Given the description of an element on the screen output the (x, y) to click on. 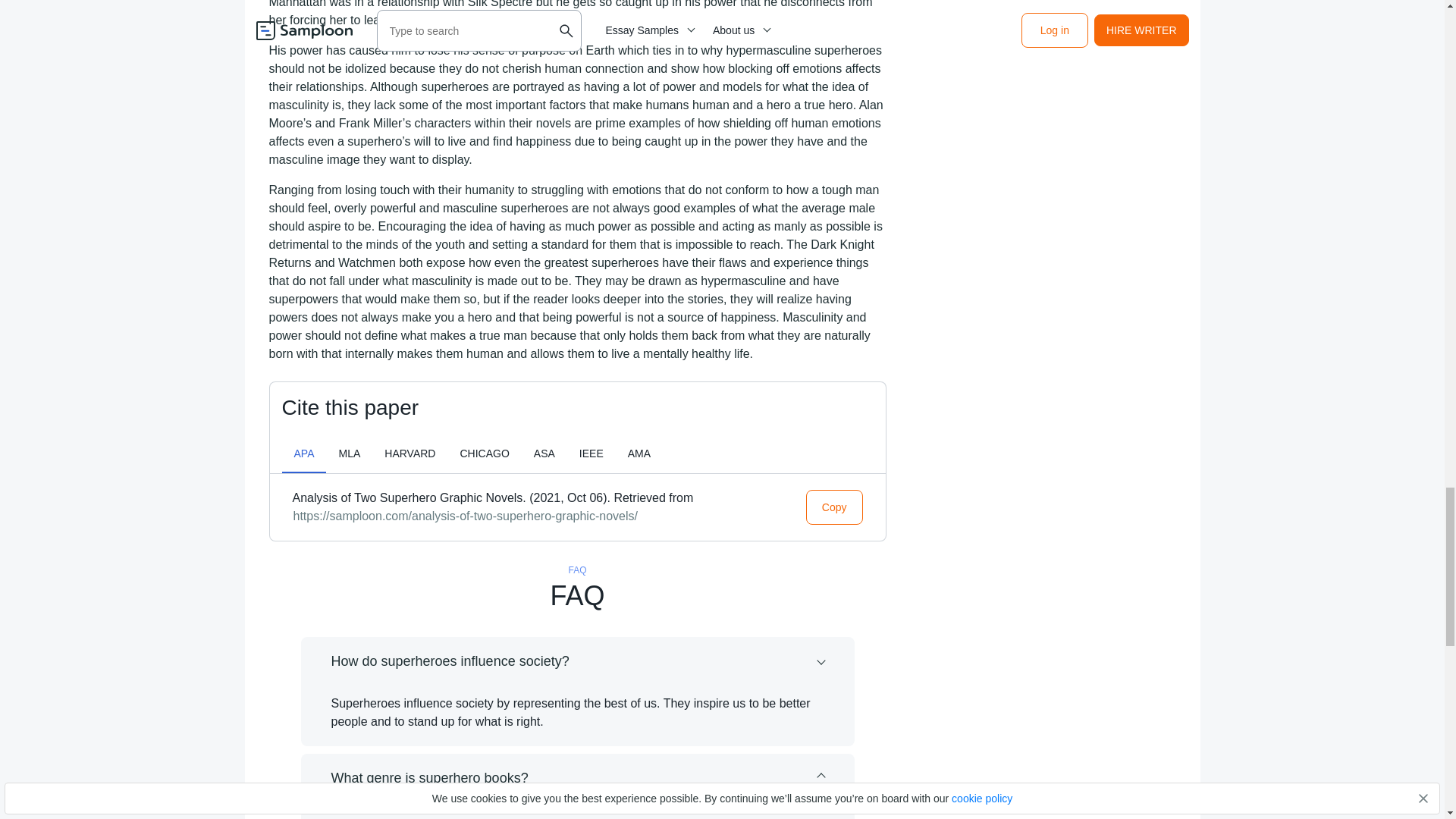
HARVARD (409, 453)
MLA (349, 453)
APA (304, 453)
